Given the description of an element on the screen output the (x, y) to click on. 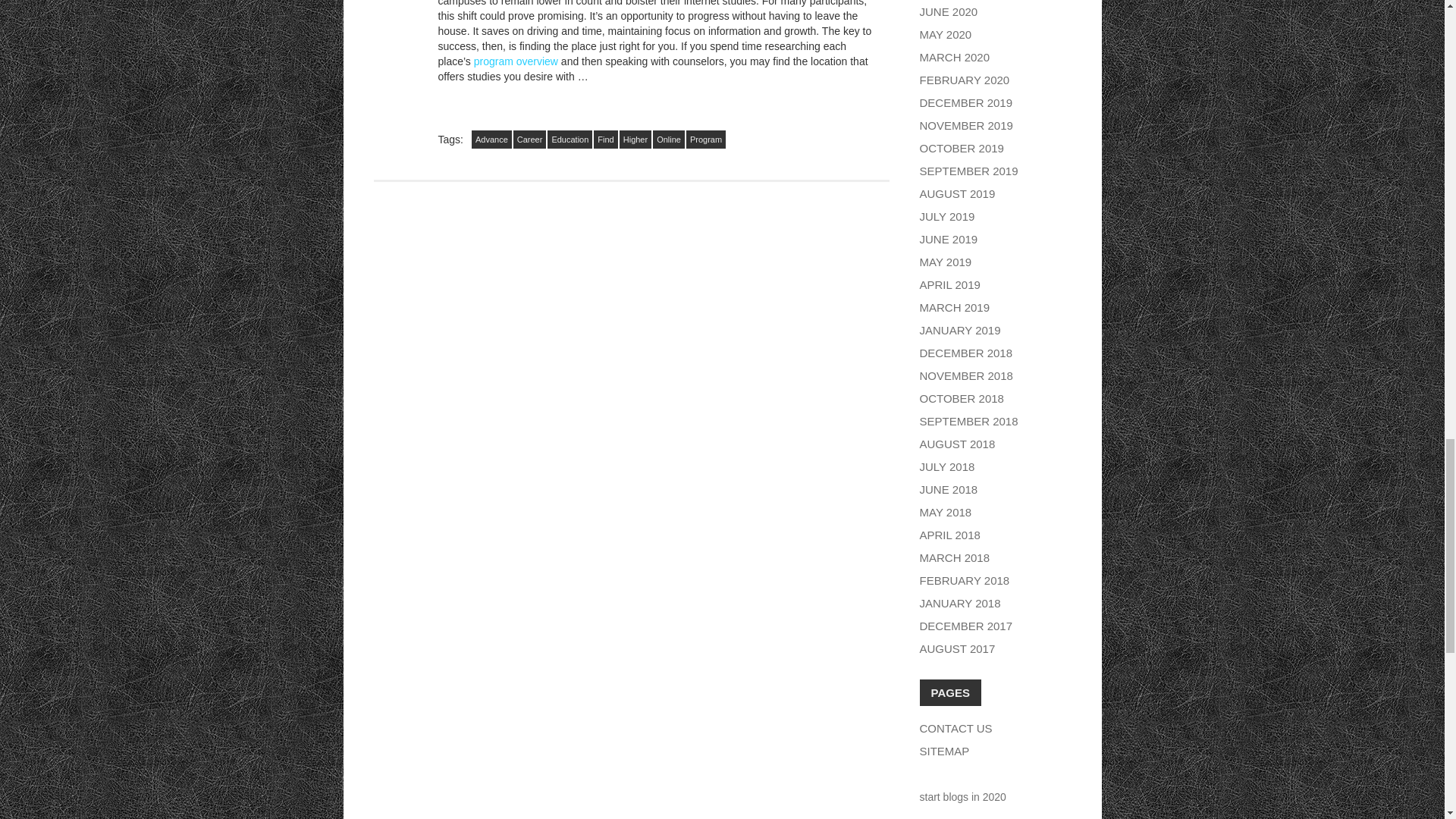
Find (605, 139)
Advance (491, 139)
Higher (635, 139)
Career (530, 139)
Online (668, 139)
Education (569, 139)
Program (705, 139)
program overview (515, 61)
